Given the description of an element on the screen output the (x, y) to click on. 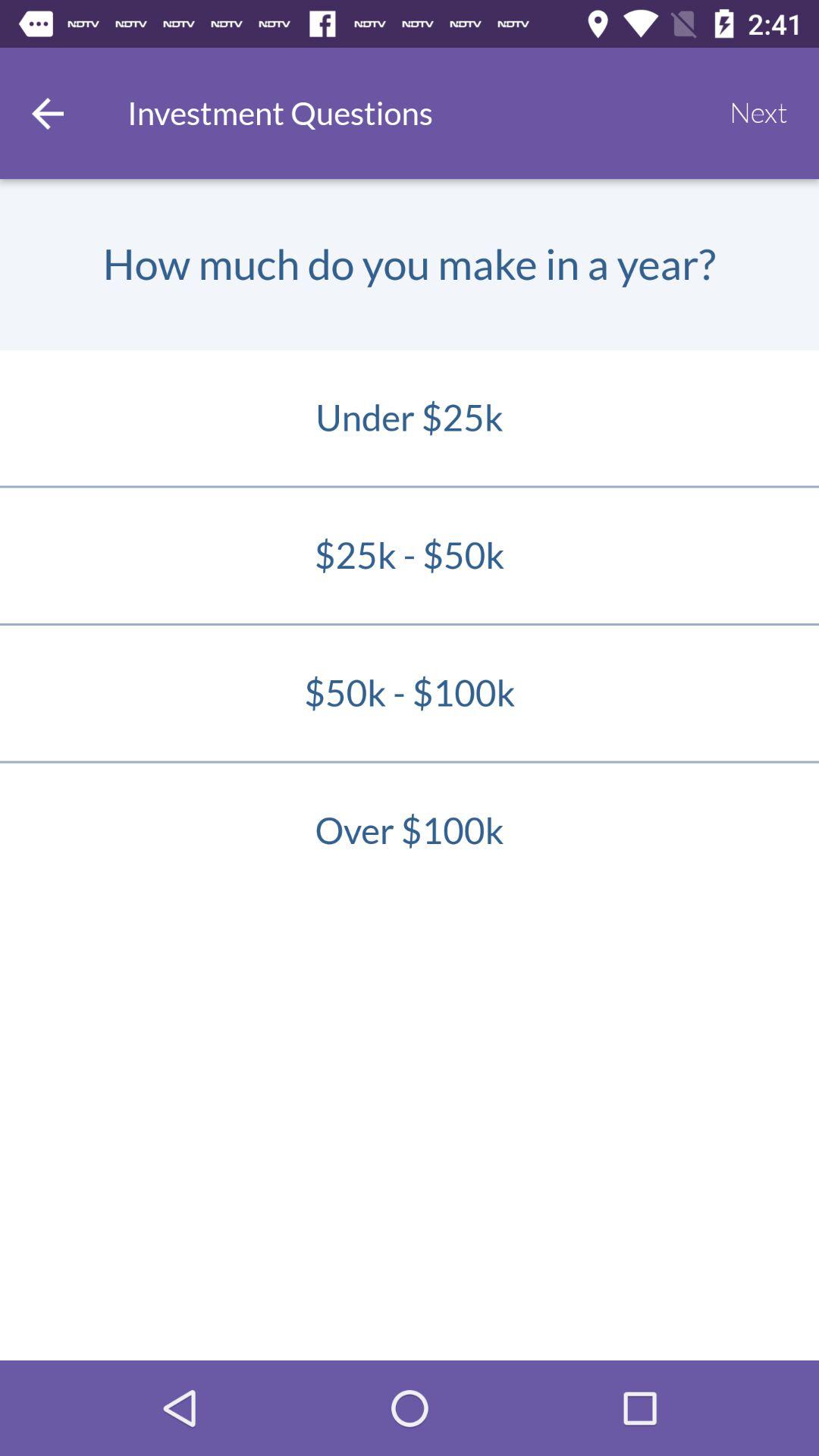
select the item above how much do (47, 113)
